Given the description of an element on the screen output the (x, y) to click on. 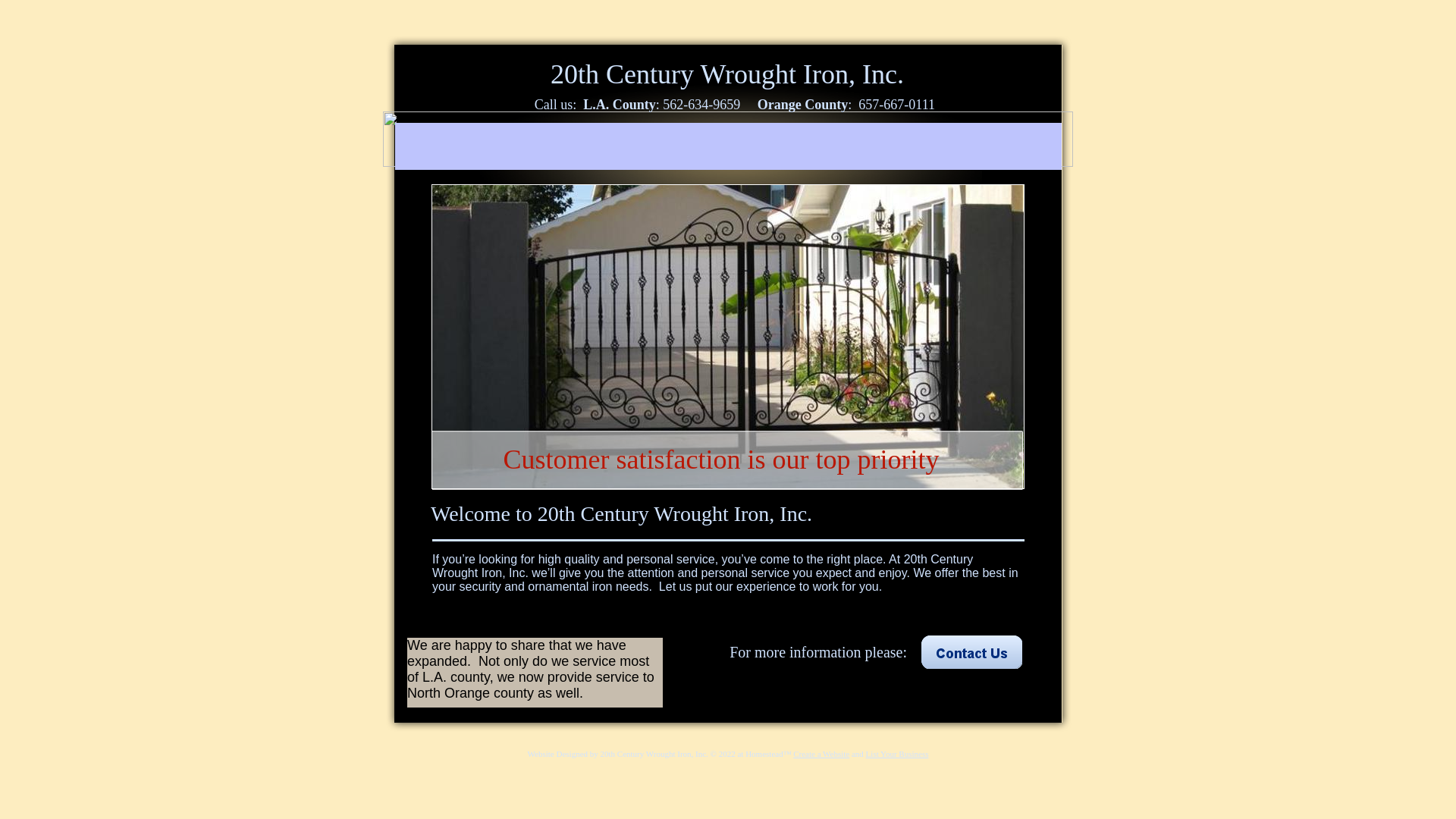
Create a Website Element type: text (821, 753)
List Your Business Element type: text (897, 753)
